Given the description of an element on the screen output the (x, y) to click on. 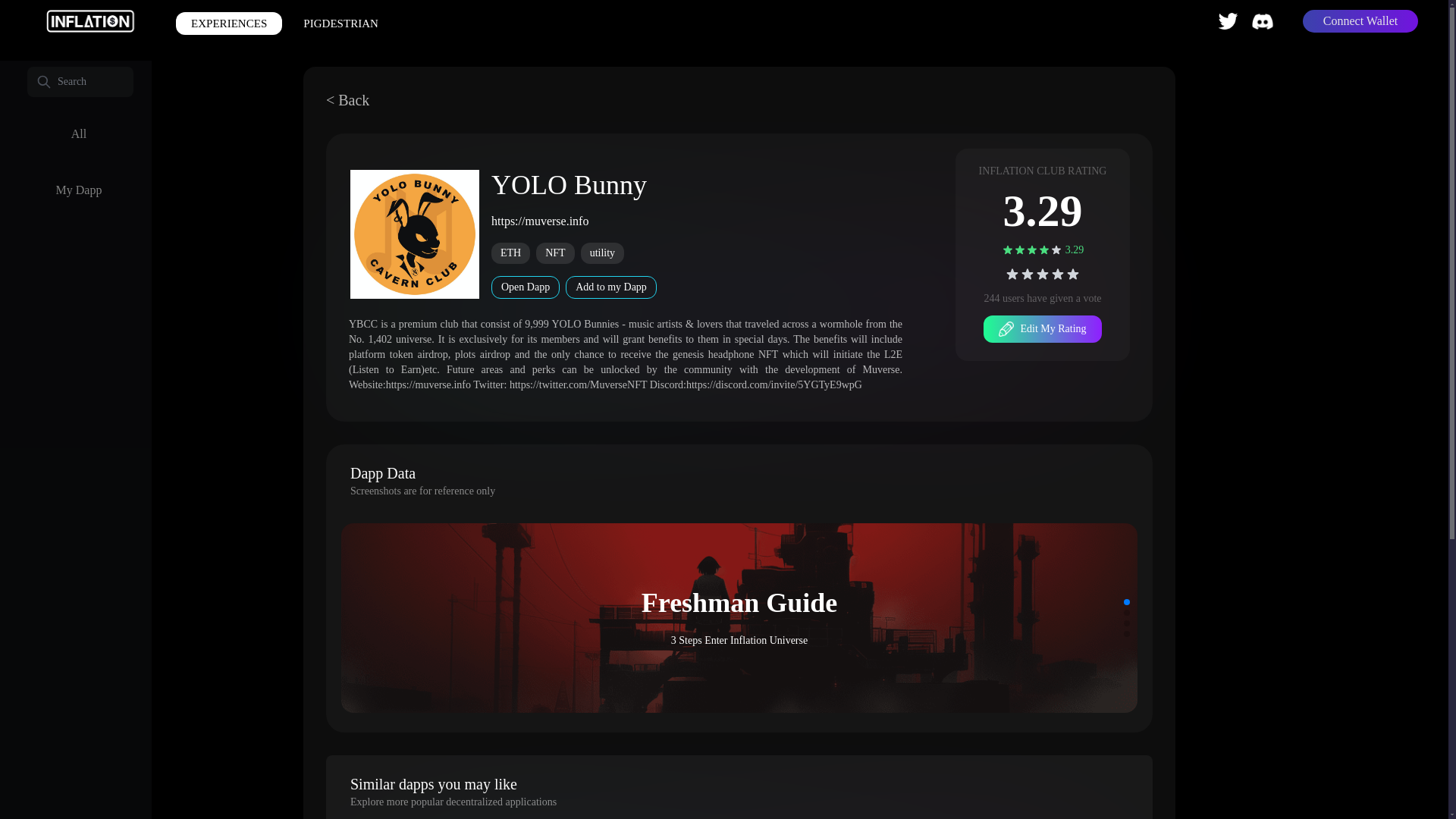
EXPERIENCES (229, 23)
Connect Wallet (1360, 21)
My Dapp (78, 190)
EXPERIENCES (229, 21)
Edit My Rating (1042, 329)
Open Dapp (525, 287)
PIGDESTRIAN (340, 21)
Add to my Dapp (611, 287)
PIGDESTRIAN (340, 23)
All (78, 134)
